Given the description of an element on the screen output the (x, y) to click on. 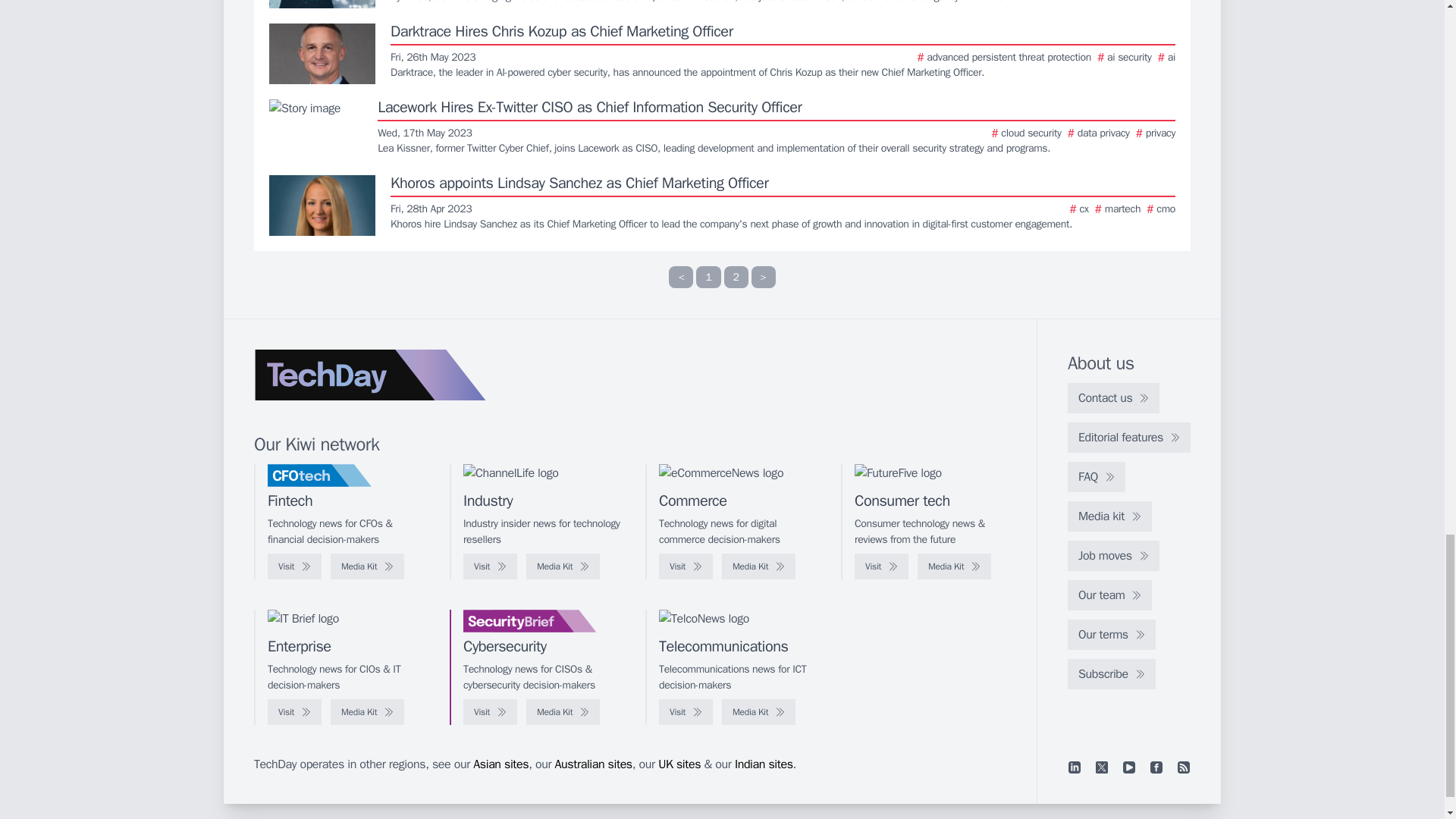
Visit (489, 566)
Media Kit (367, 566)
Media Kit (562, 566)
Visit (294, 566)
1 (707, 277)
2 (735, 277)
